Given the description of an element on the screen output the (x, y) to click on. 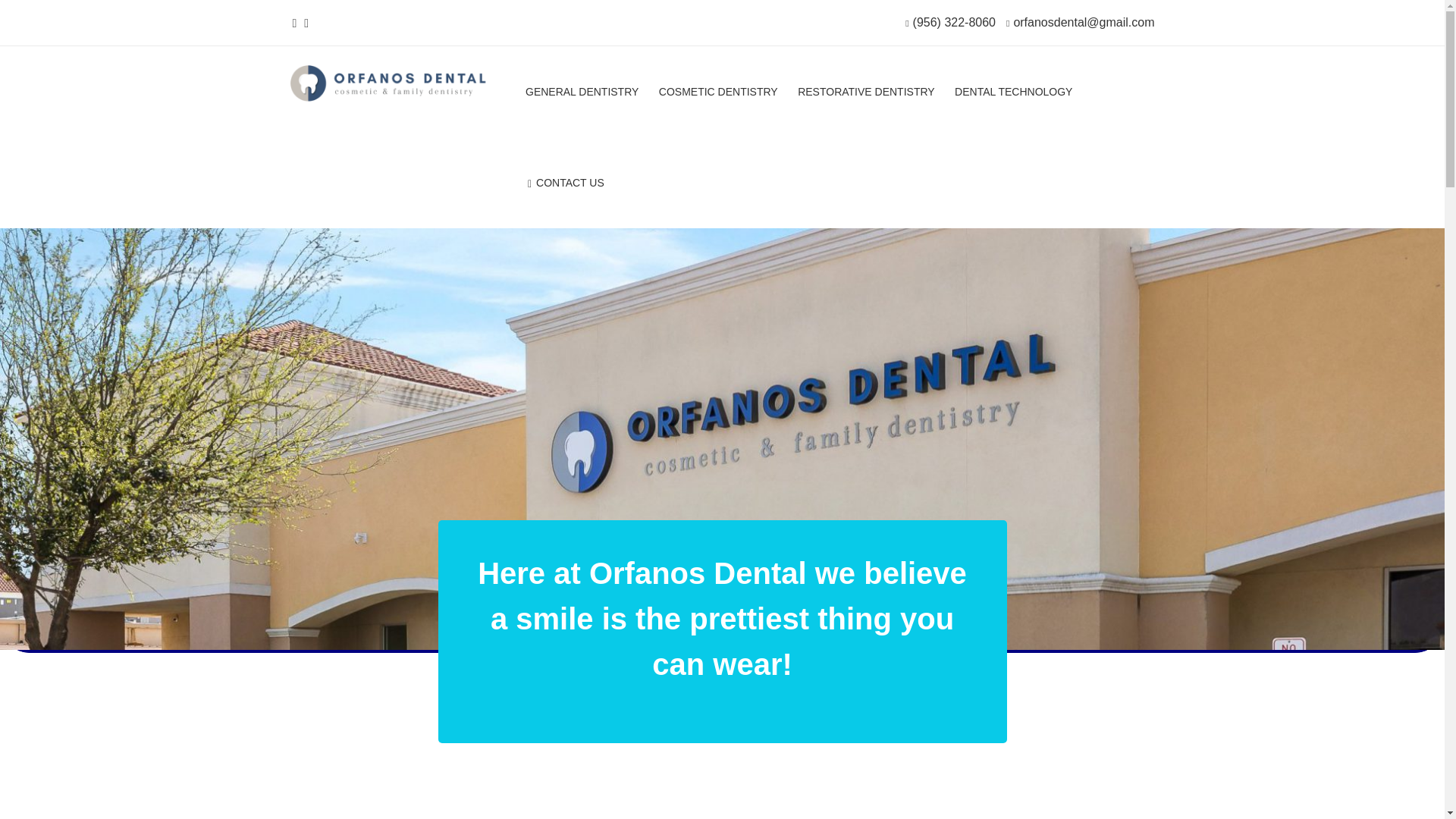
GENERAL DENTISTRY (582, 93)
RESTORATIVE DENTISTRY (865, 93)
COSMETIC DENTISTRY (718, 93)
Contact Us (564, 184)
CONTACT US (564, 184)
DENTAL TECHNOLOGY (1013, 93)
